Given the description of an element on the screen output the (x, y) to click on. 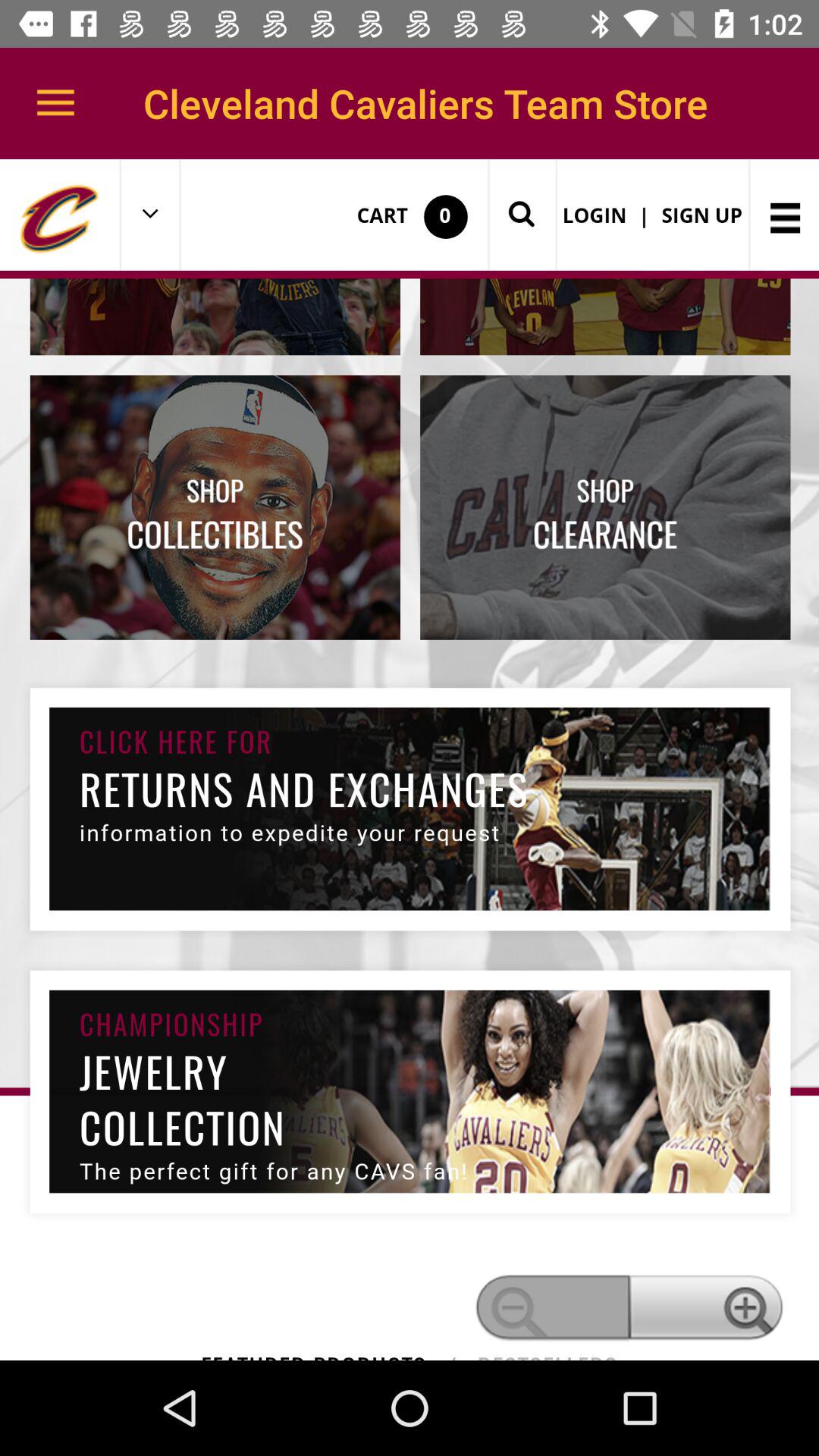
interact with app window (409, 759)
